Given the description of an element on the screen output the (x, y) to click on. 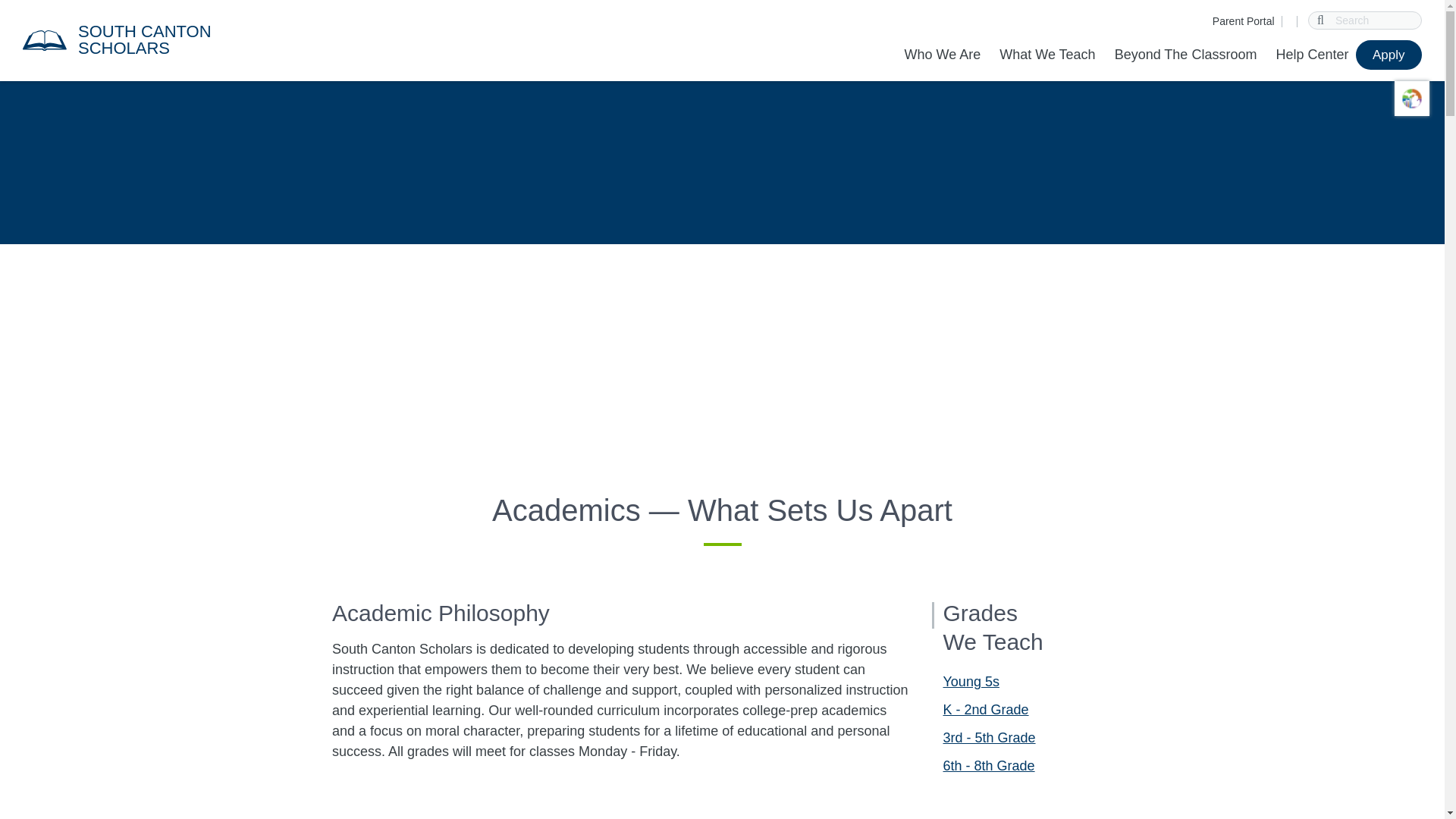
Who We Are (946, 54)
Parent Portal (1243, 21)
search (1321, 20)
Apply (1388, 54)
Beyond The Classroom (1185, 54)
SOUTH CANTON SCHOLARS (174, 39)
Help Center (1311, 54)
What We Teach (1046, 54)
search (1321, 20)
